Given the description of an element on the screen output the (x, y) to click on. 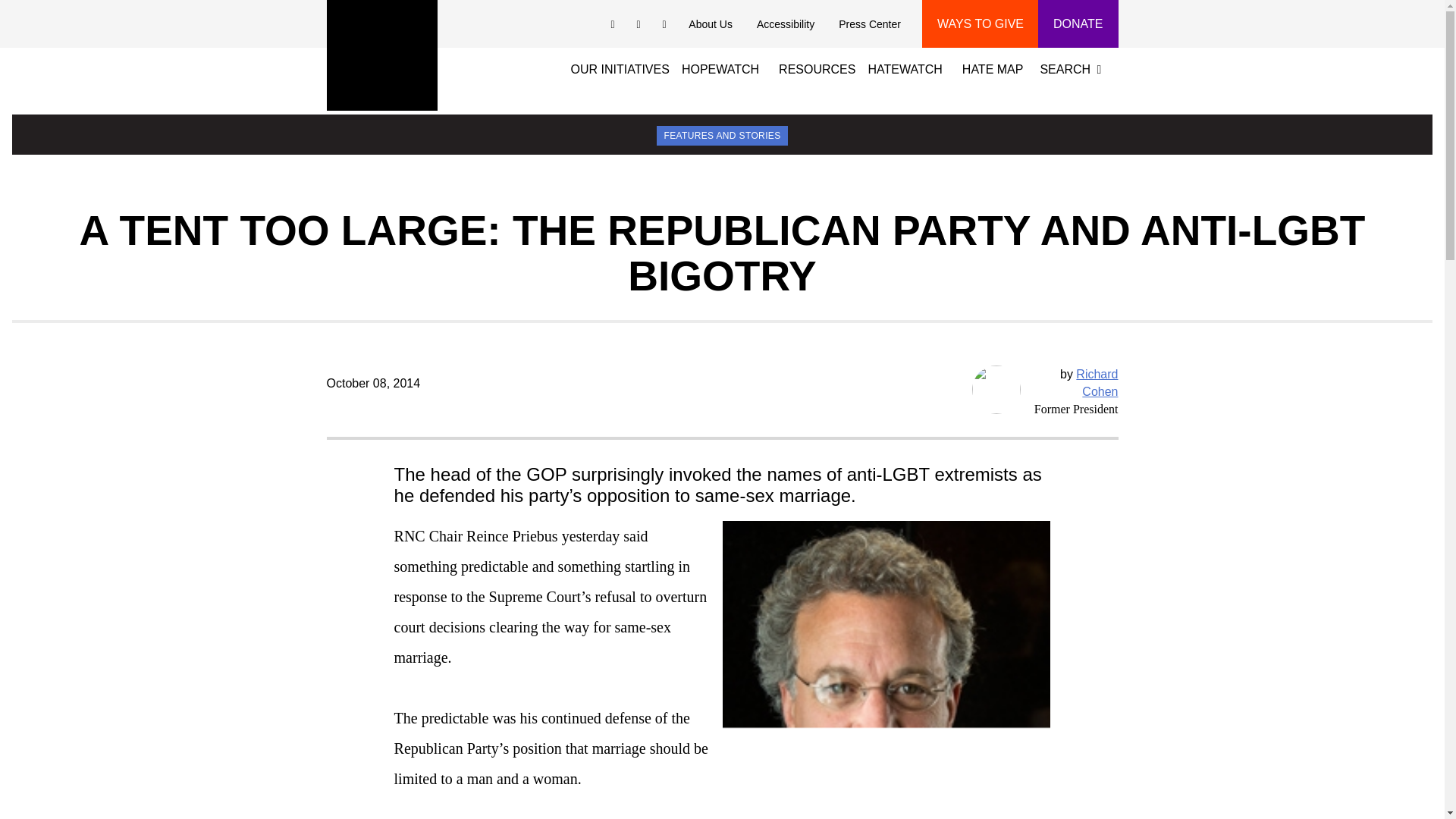
RESOURCES (822, 67)
Richard Cohen (1096, 382)
WAYS TO GIVE (980, 23)
Accessibility (785, 24)
FEATURES AND STORIES (721, 135)
HOPEWATCH (720, 67)
HATEWATCH (904, 67)
DONATE (1078, 23)
Home (381, 55)
SEARCH (1073, 67)
